Given the description of an element on the screen output the (x, y) to click on. 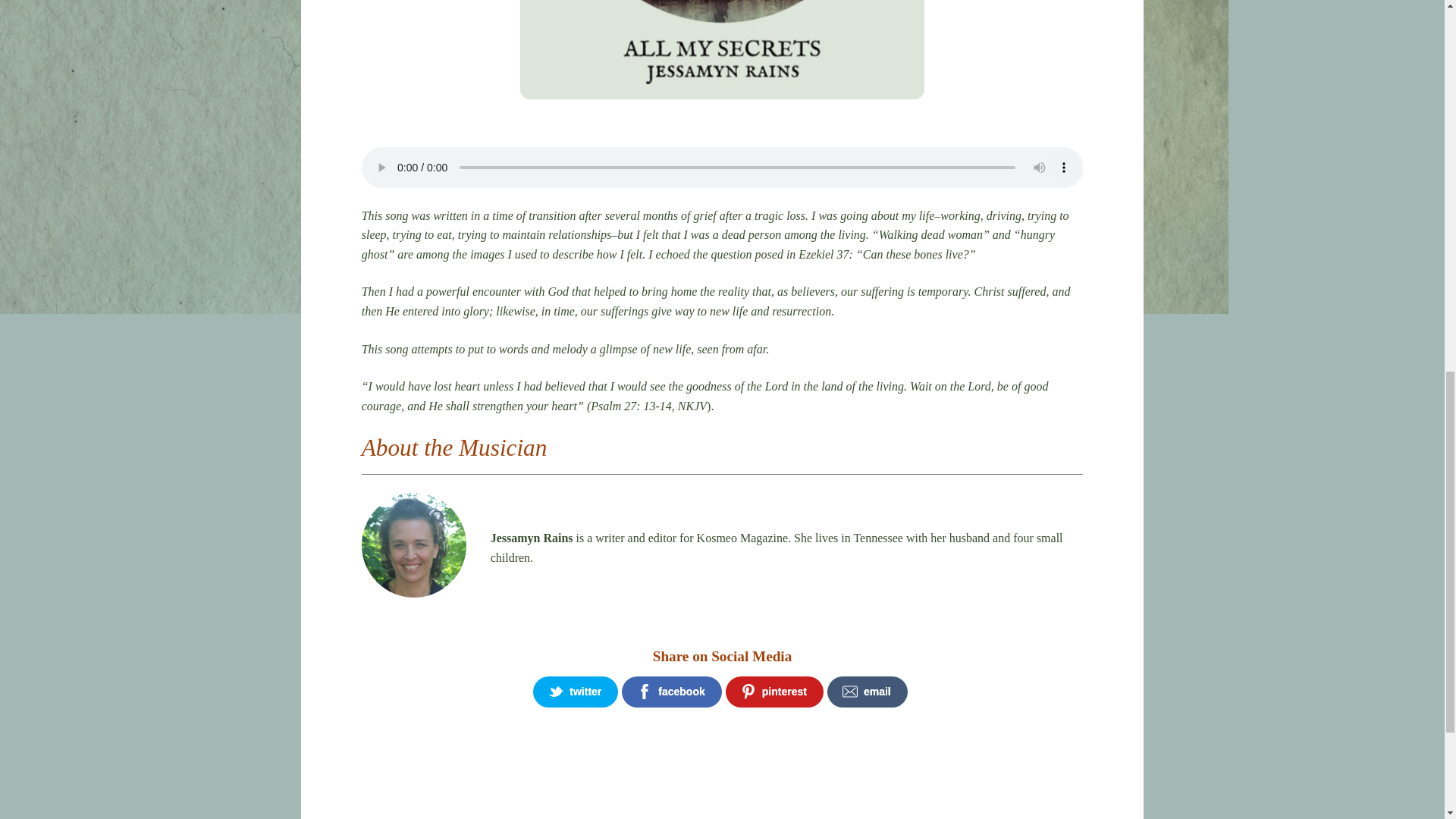
twitter (574, 691)
email (867, 691)
facebook (670, 691)
pinterest (774, 691)
